Given the description of an element on the screen output the (x, y) to click on. 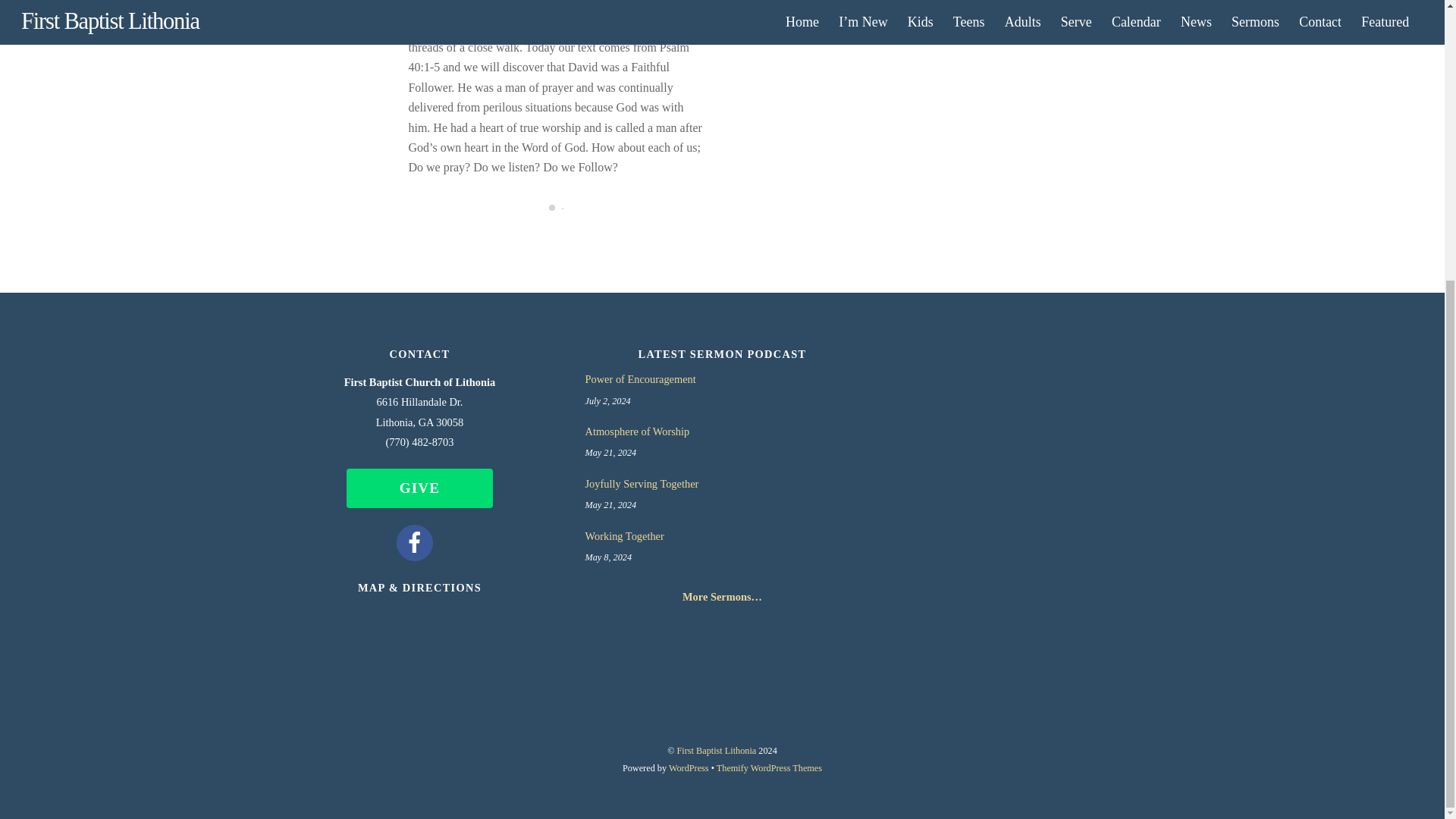
Themify WordPress Themes (769, 767)
GIVE (419, 487)
Power of Encouragement (722, 379)
Working Together (722, 536)
Joyfully Serving Together (722, 483)
Atmosphere of Worship (722, 431)
First Baptist Lithonia (717, 750)
WordPress (688, 767)
